Given the description of an element on the screen output the (x, y) to click on. 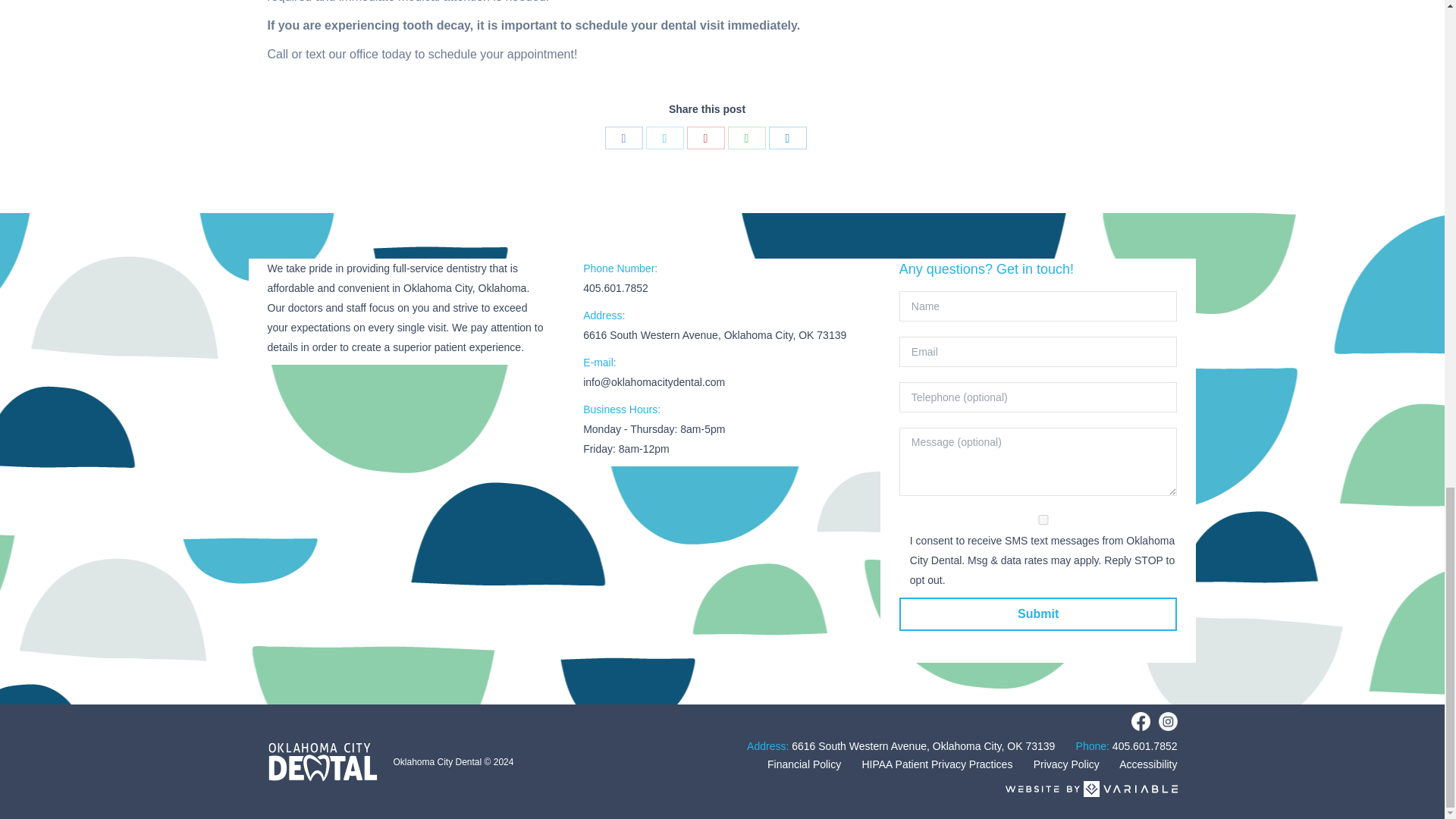
Twitter (665, 137)
Facebook (624, 137)
WhatsApp (746, 137)
Pinterest (706, 137)
LinkedIn (787, 137)
